Given the description of an element on the screen output the (x, y) to click on. 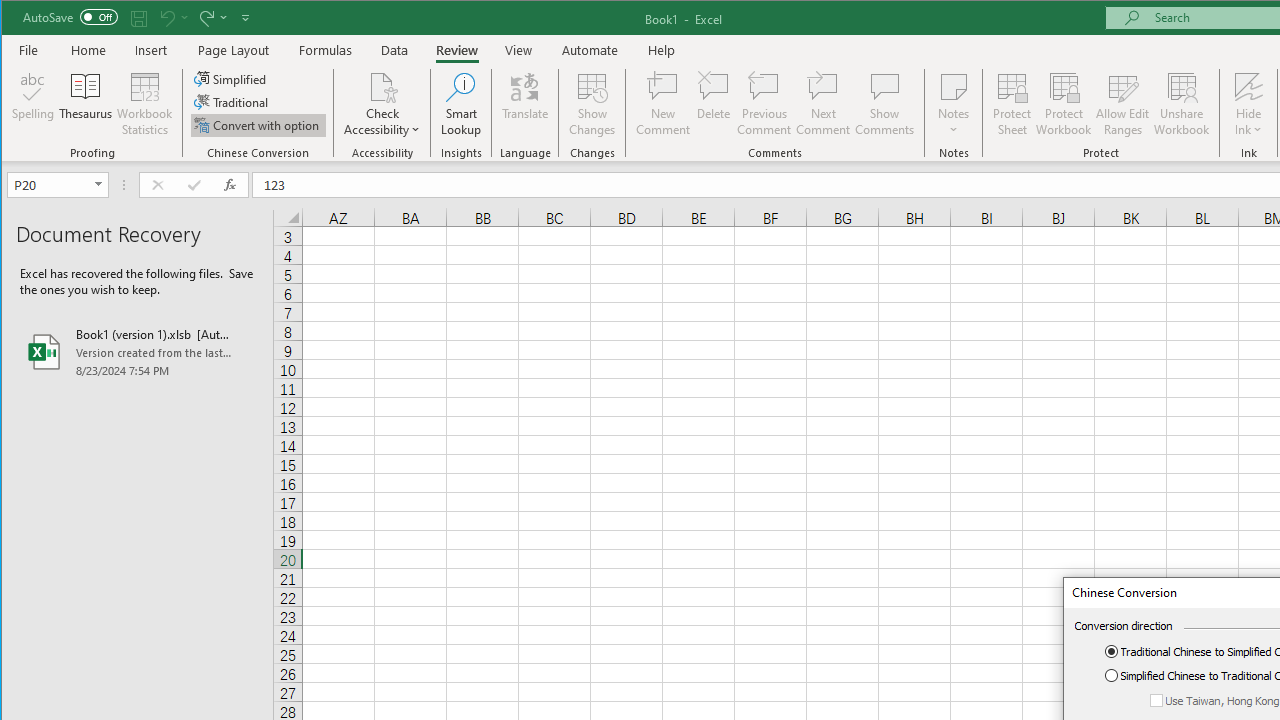
Show Changes (592, 104)
Spelling... (33, 104)
Delete (713, 104)
Unshare Workbook (1182, 104)
Thesaurus... (86, 104)
